Given the description of an element on the screen output the (x, y) to click on. 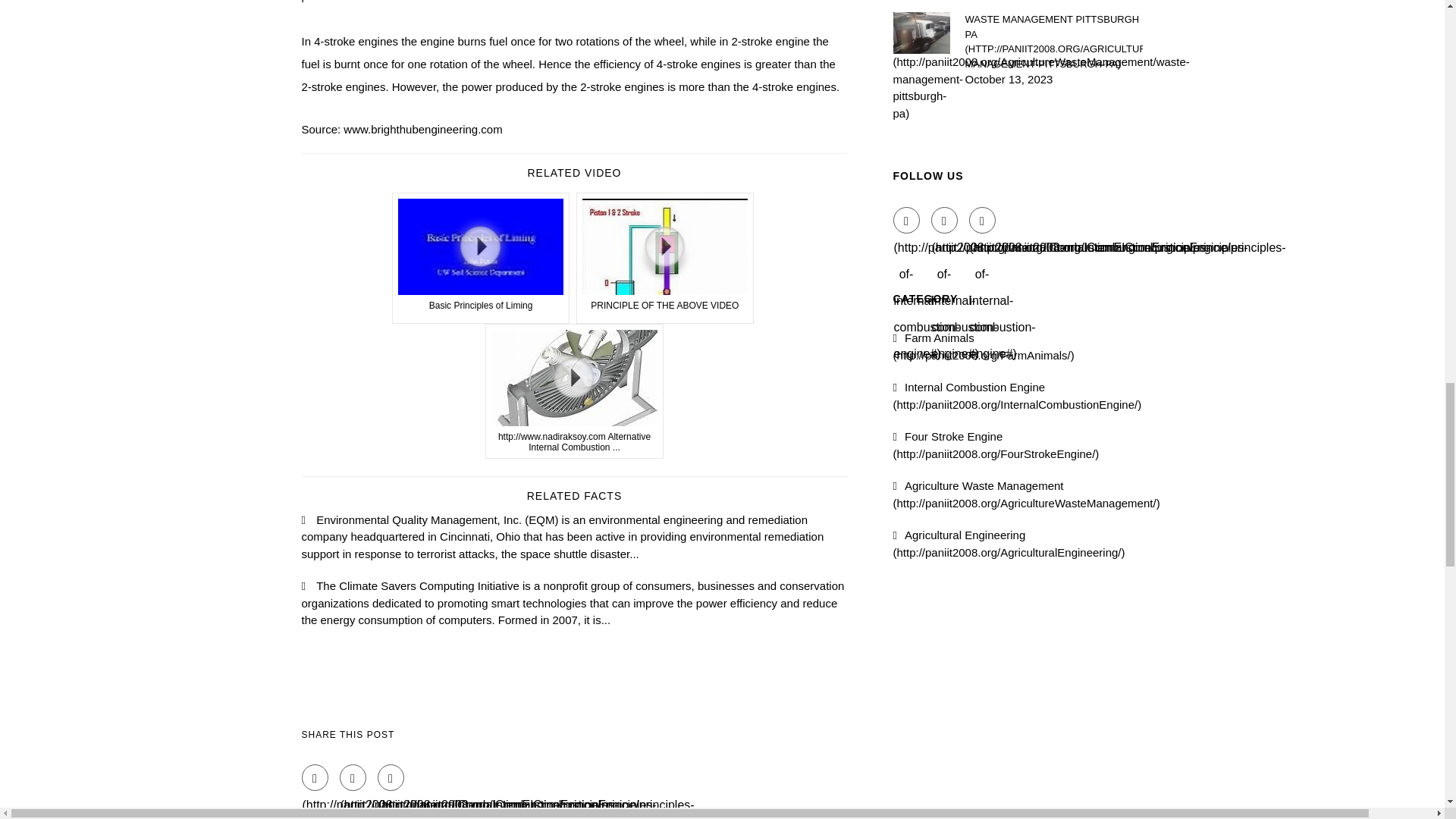
Google Plus (390, 777)
WASTE MANAGEMENT PITTSBURGH PA (1052, 41)
View all posts filed under Four Stroke Engine (996, 444)
View all posts filed under Agriculture Waste Management (1026, 494)
View this video from YouTube (573, 390)
Twitter (944, 220)
View all posts filed under Farm Animals (983, 346)
Facebook (906, 220)
View all posts filed under Agricultural Engineering (1009, 543)
View this video from PowerShow.com (480, 257)
Facebook (315, 777)
View all posts filed under Internal Combustion Engine (1017, 395)
Google Plus (982, 220)
Twitter (352, 777)
View this video from YouTube (665, 257)
